Given the description of an element on the screen output the (x, y) to click on. 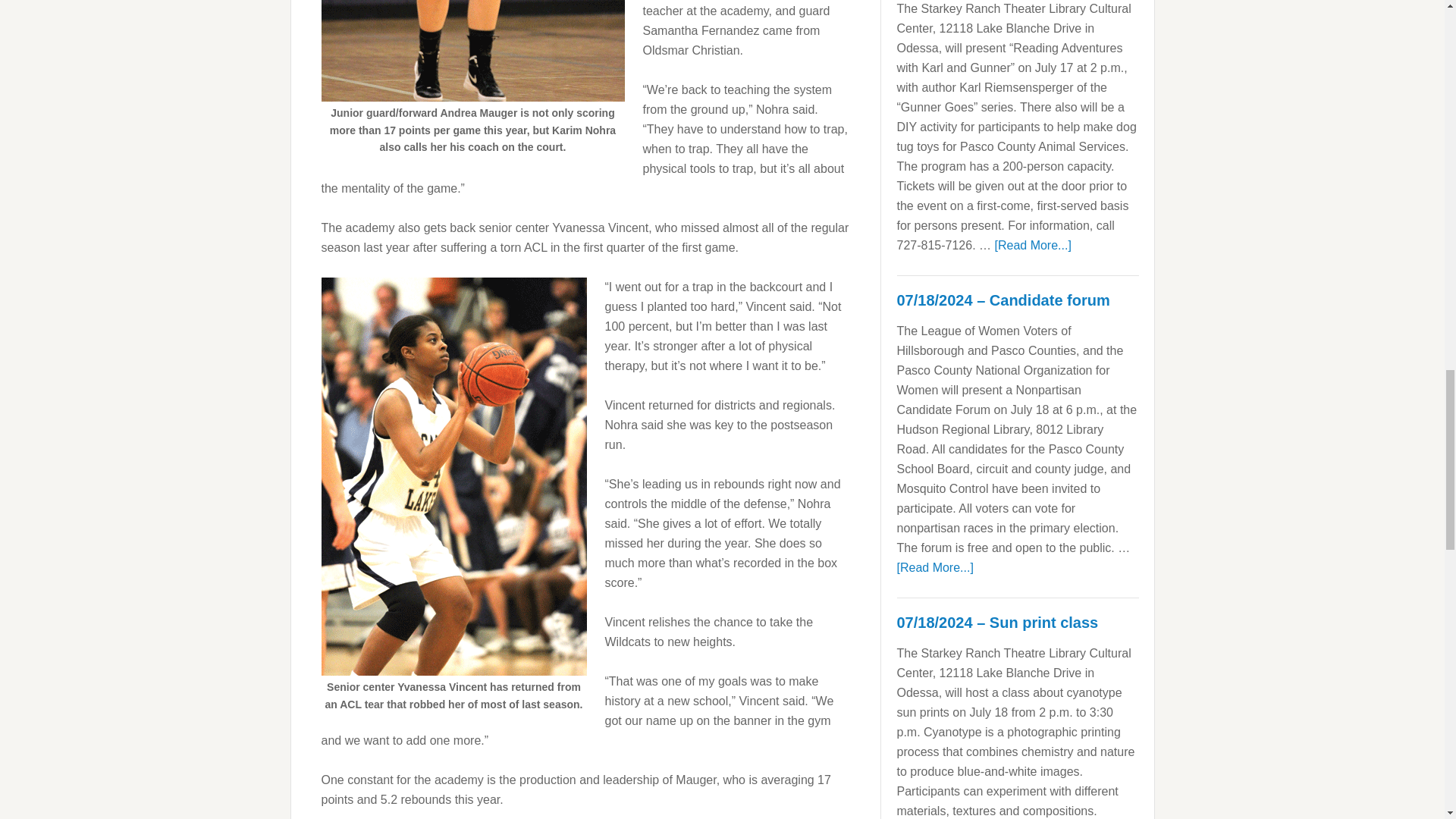
Andrea-Mauger (472, 50)
Yvanessa-Vincent (453, 476)
